Given the description of an element on the screen output the (x, y) to click on. 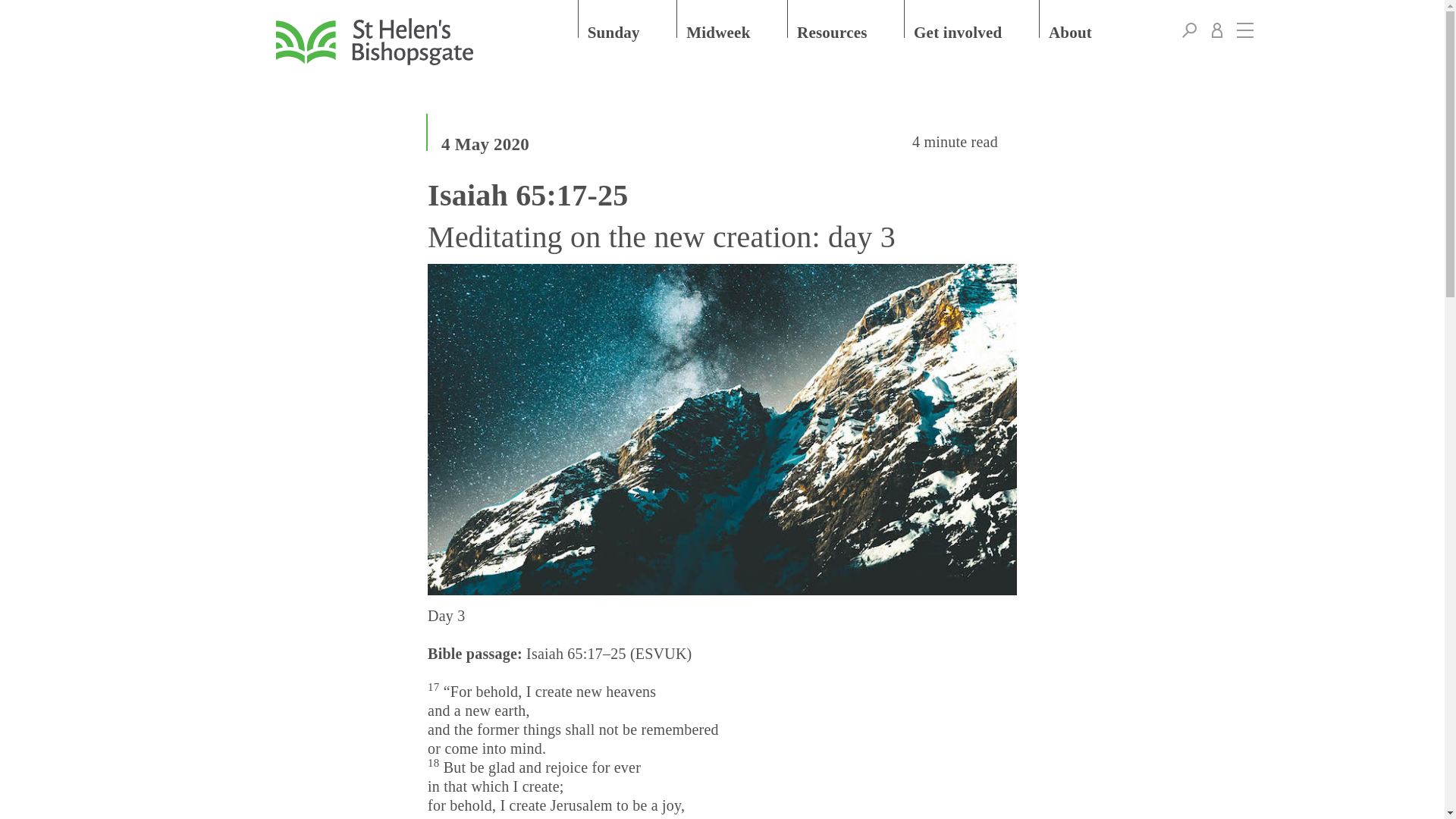
Resources (846, 18)
Sunday (628, 18)
About (1085, 18)
Midweek (732, 18)
Get involved (972, 18)
